Given the description of an element on the screen output the (x, y) to click on. 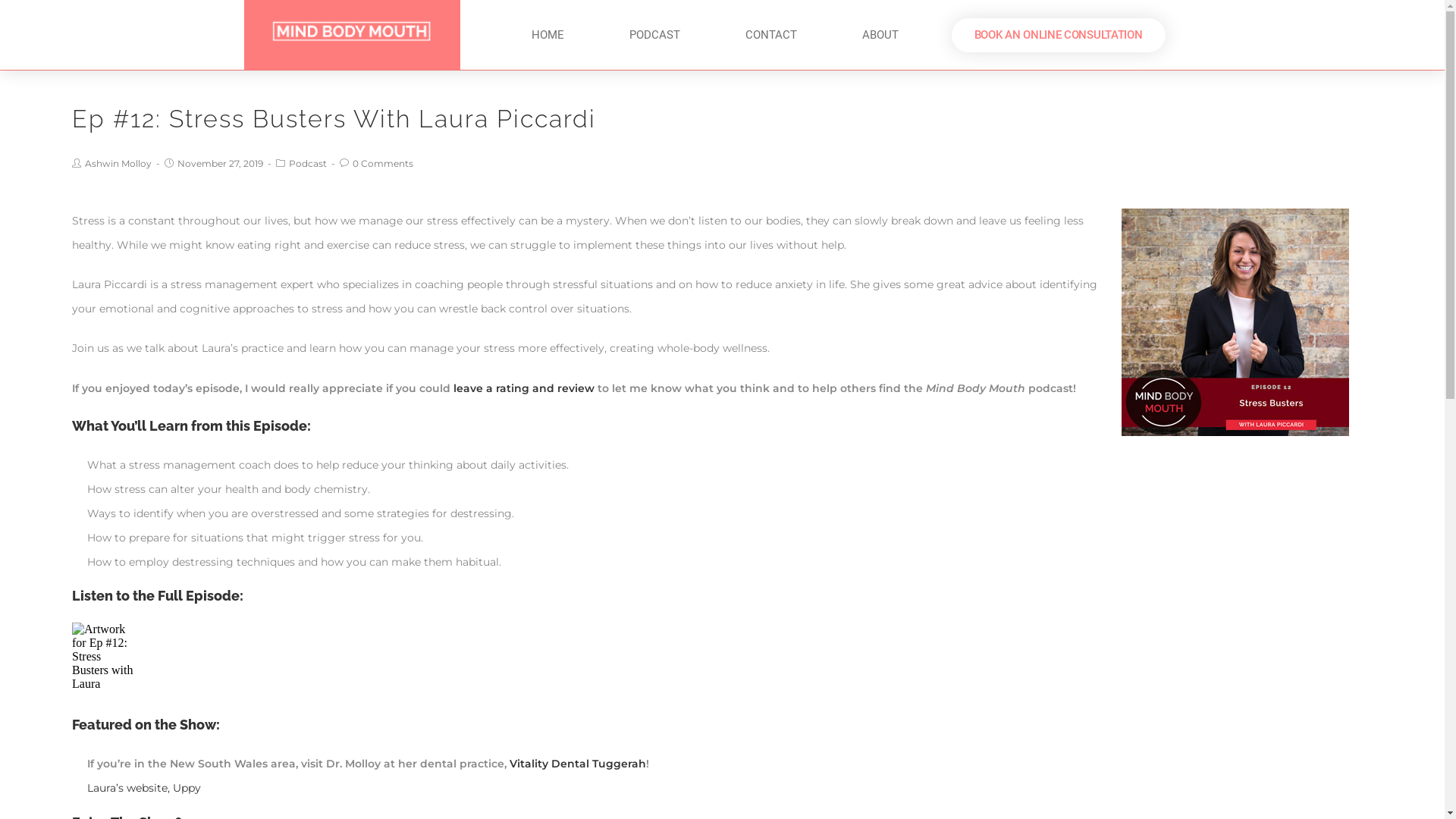
BOOK AN ONLINE CONSULTATION Element type: text (1058, 35)
Ashwin Molloy Element type: text (117, 163)
HOME Element type: text (547, 34)
ABOUT Element type: text (880, 34)
0 Comments Element type: text (382, 163)
CONTACT Element type: text (770, 34)
leave a rating and review Element type: text (523, 388)
PODCAST Element type: text (654, 34)
Podcast Element type: text (307, 163)
Vitality Dental Tuggerah Element type: text (577, 763)
